Given the description of an element on the screen output the (x, y) to click on. 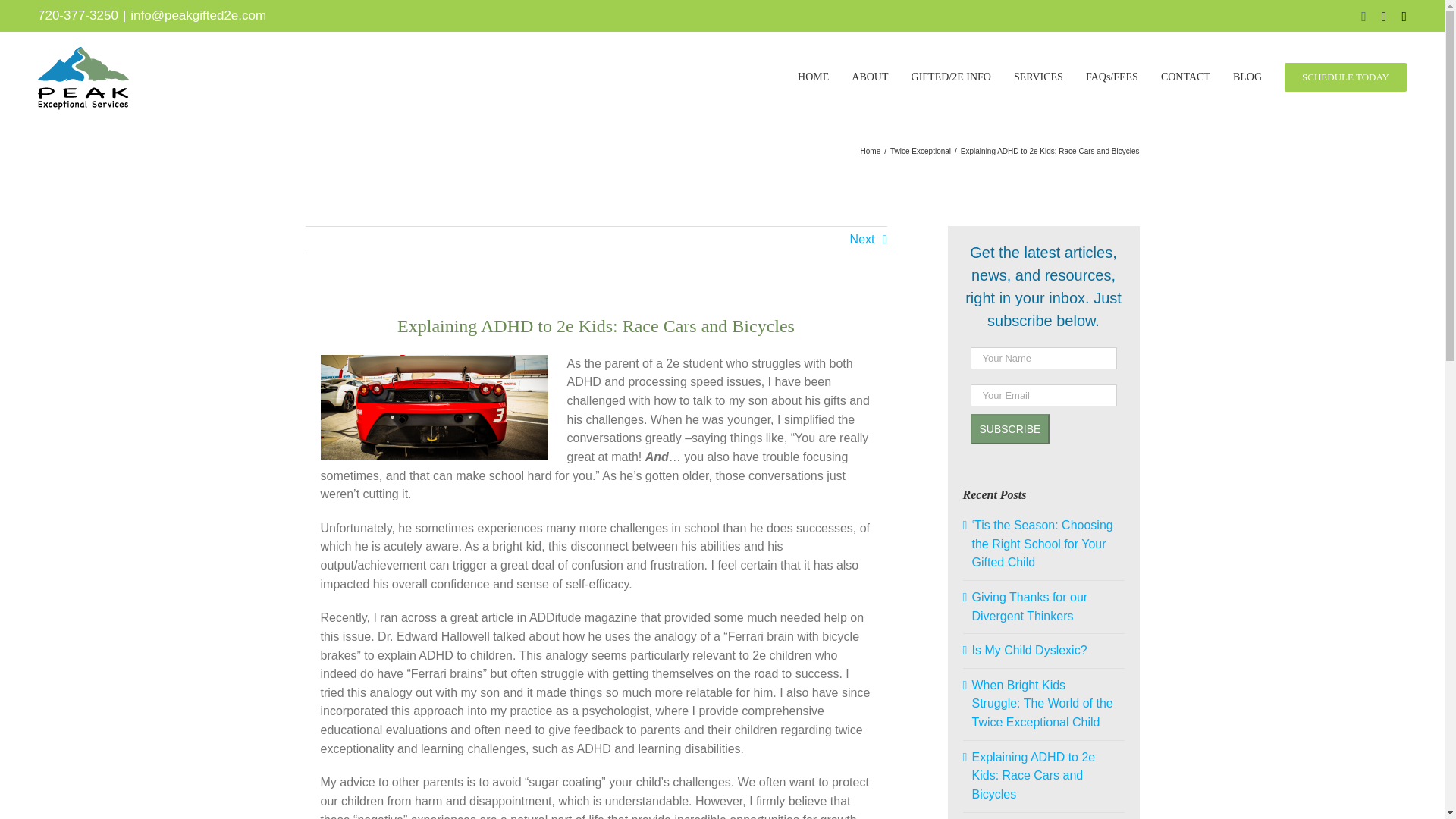
Home (870, 151)
Next (862, 239)
Twice Exceptional (919, 151)
SUBSCRIBE (1010, 429)
720-377-3250 (77, 14)
Explaining ADHD to 2e kids (433, 406)
SCHEDULE TODAY (1345, 76)
